Given the description of an element on the screen output the (x, y) to click on. 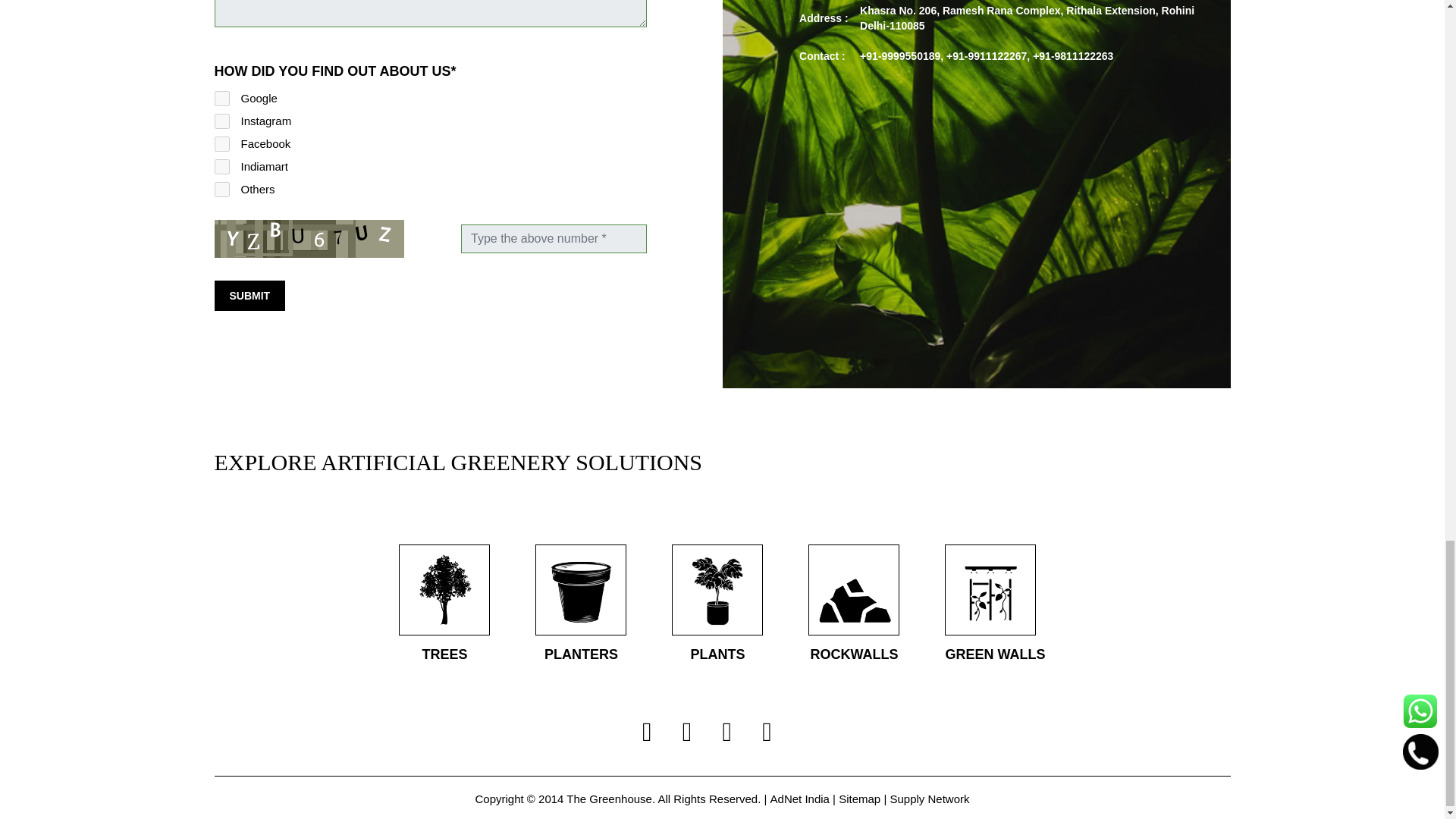
Sitemap (859, 798)
GREEN WALLS (994, 604)
SUBMIT (249, 295)
AdNet India (799, 798)
ROCKWALLS (853, 604)
PLANTS (716, 604)
Facebook (221, 143)
Others (221, 189)
PLANTERS (580, 604)
Indiamart (221, 166)
Instagram (221, 120)
TREES (443, 604)
Google (221, 98)
